Given the description of an element on the screen output the (x, y) to click on. 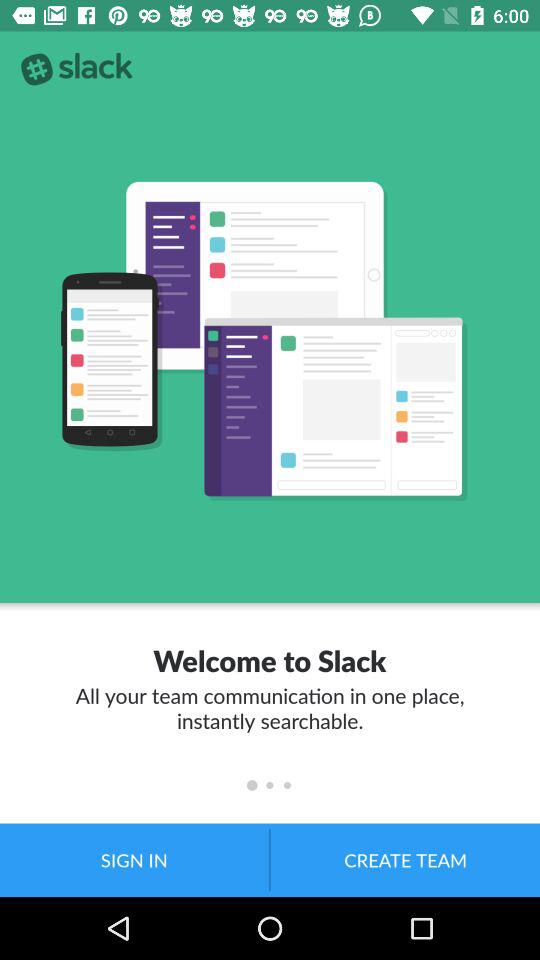
jump until the create team item (405, 859)
